Given the description of an element on the screen output the (x, y) to click on. 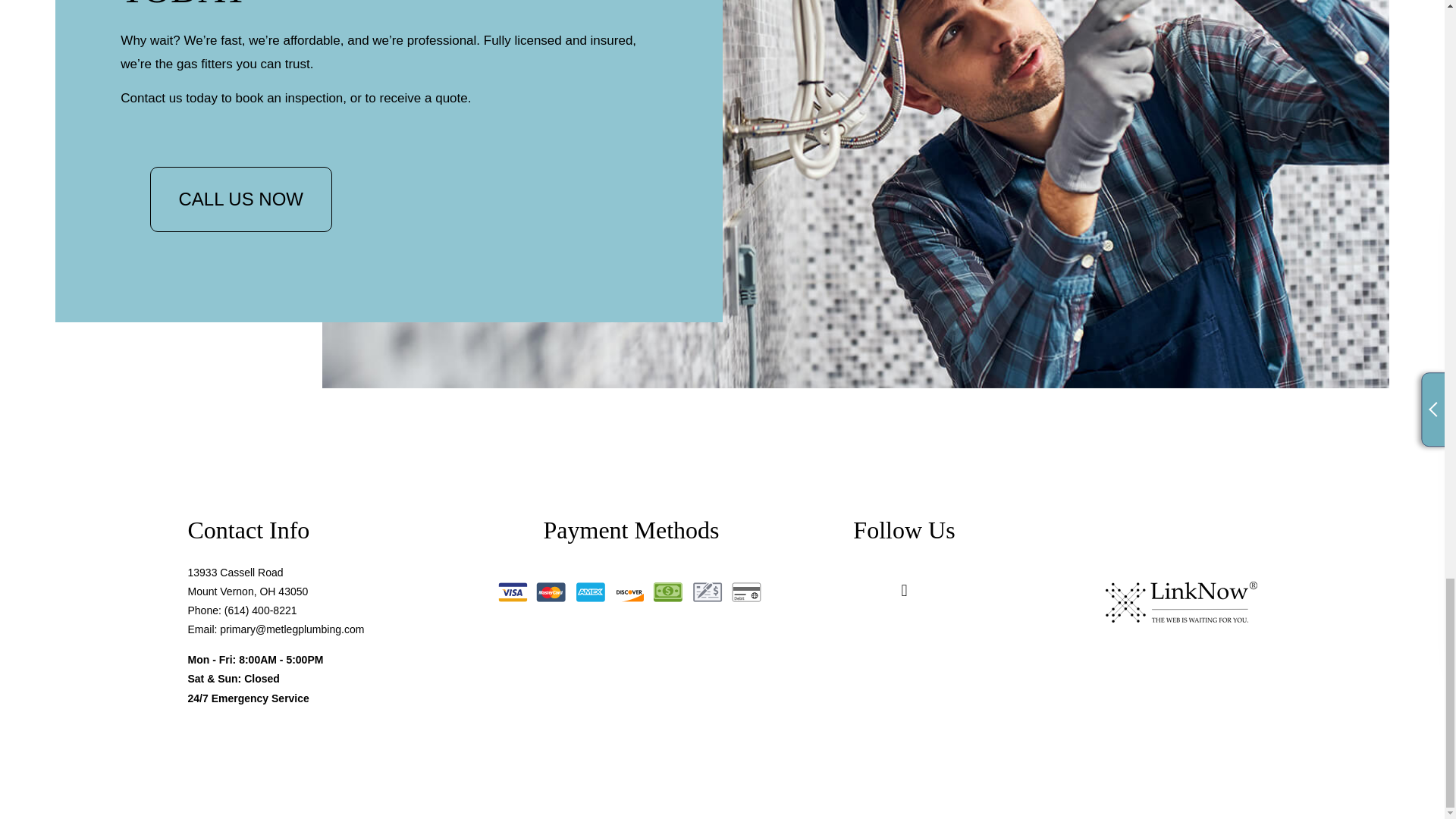
Mastercard (551, 591)
American Express (591, 591)
Debit Card (745, 591)
Check (707, 591)
Cash (668, 591)
Visa (512, 591)
Discover (628, 591)
